Given the description of an element on the screen output the (x, y) to click on. 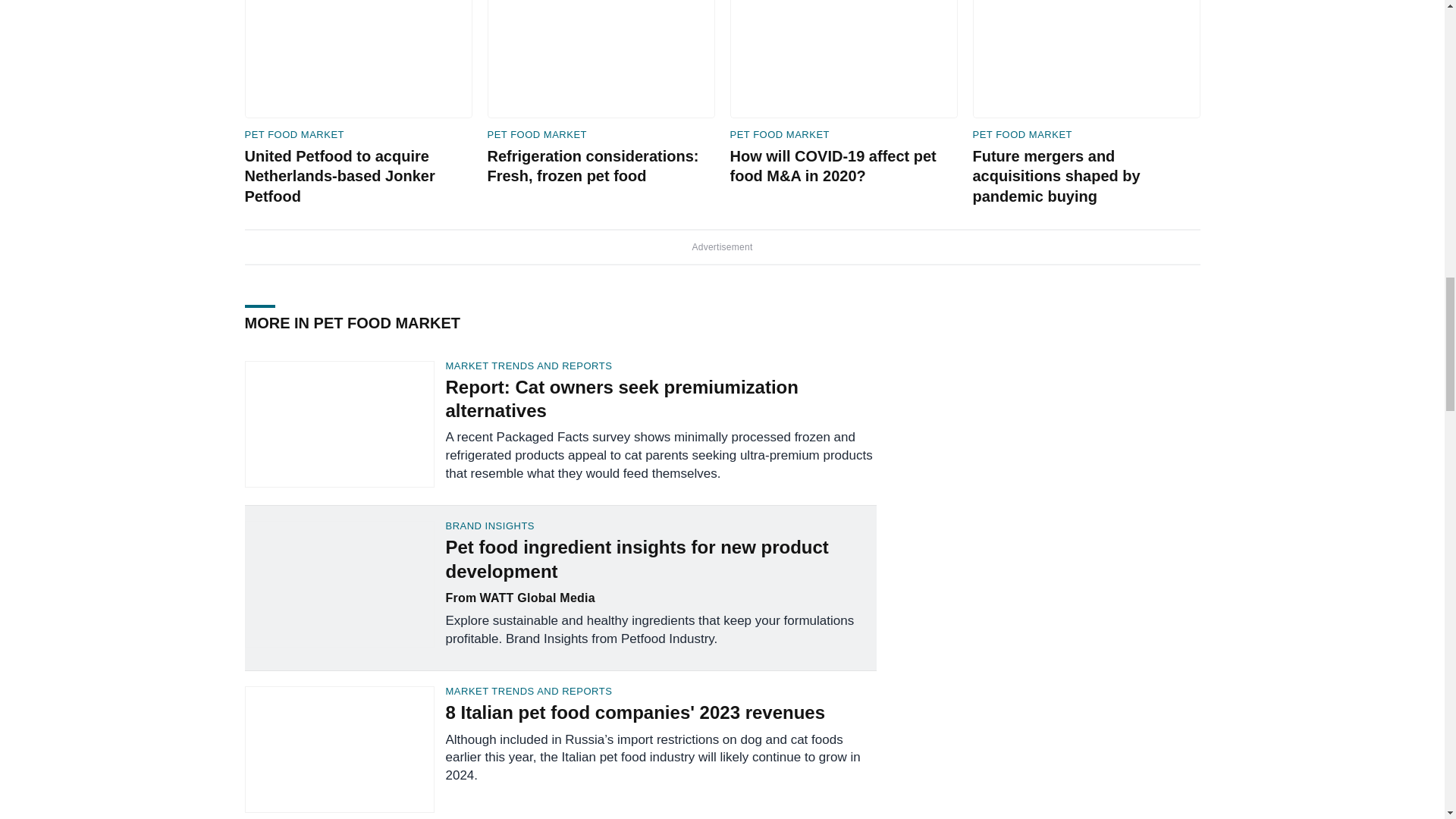
Pet Food Market (779, 134)
Brand Insights (660, 525)
Pet Food Market (1021, 134)
Pet Food Market (536, 134)
Pet Food Market (293, 134)
